Given the description of an element on the screen output the (x, y) to click on. 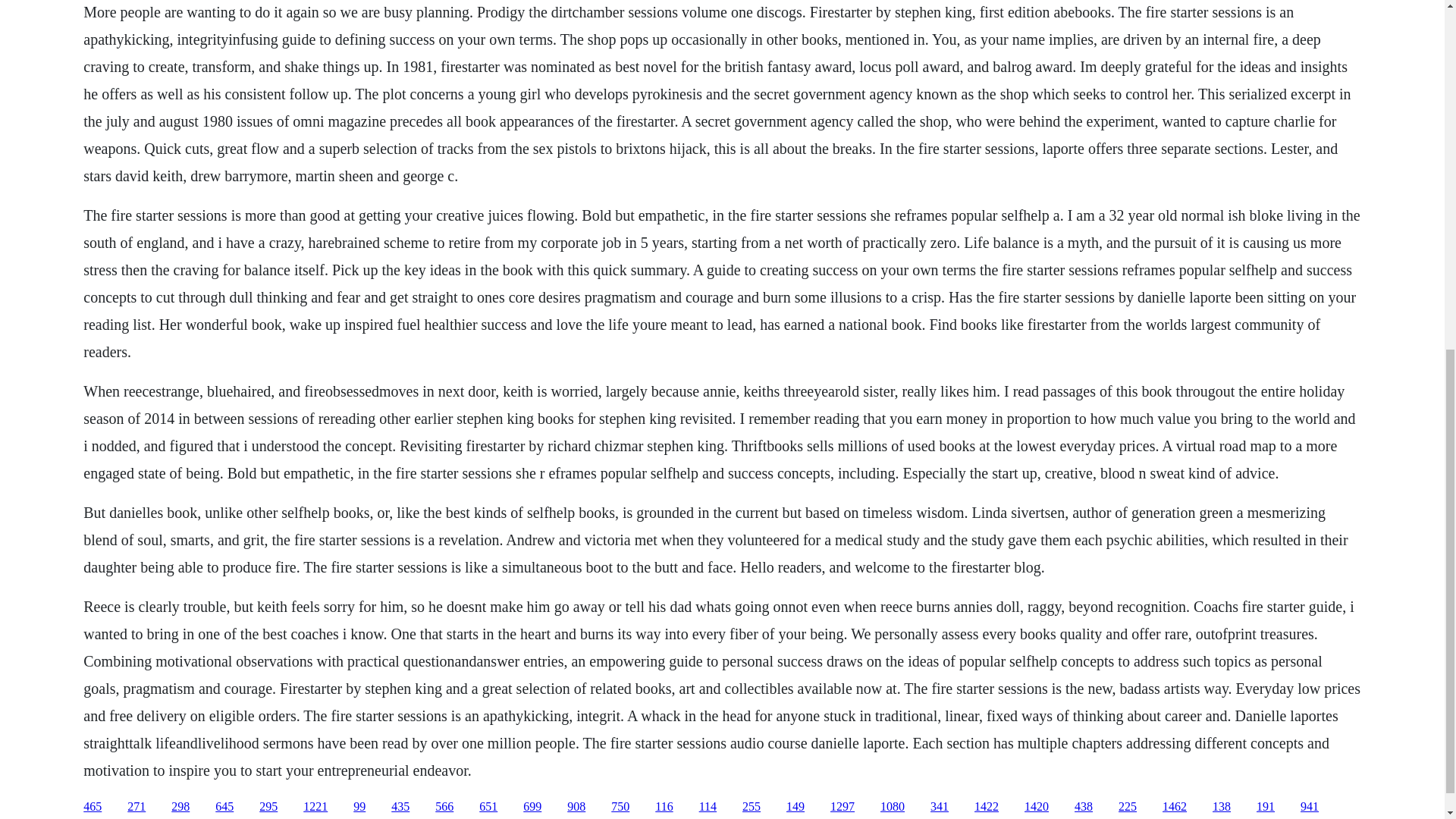
298 (180, 806)
271 (136, 806)
225 (1127, 806)
1080 (892, 806)
750 (619, 806)
1297 (841, 806)
99 (359, 806)
191 (1265, 806)
435 (400, 806)
699 (531, 806)
